Given the description of an element on the screen output the (x, y) to click on. 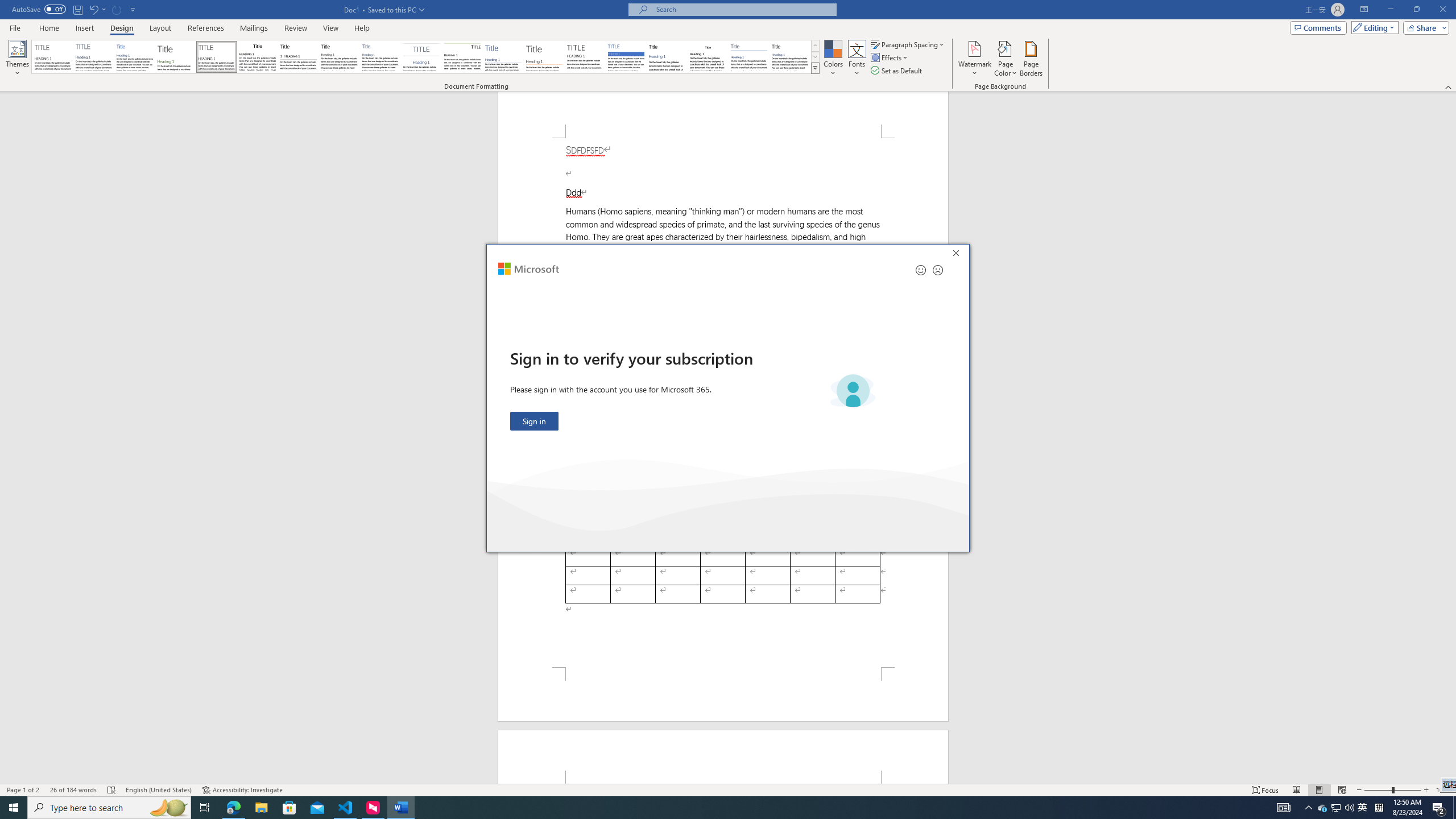
Shaded (625, 56)
Word - 1 running window (400, 807)
Set as Default (897, 69)
Centered (421, 56)
AutomationID: QuickStylesSets (425, 56)
Send a smile for feedback (920, 269)
